Given the description of an element on the screen output the (x, y) to click on. 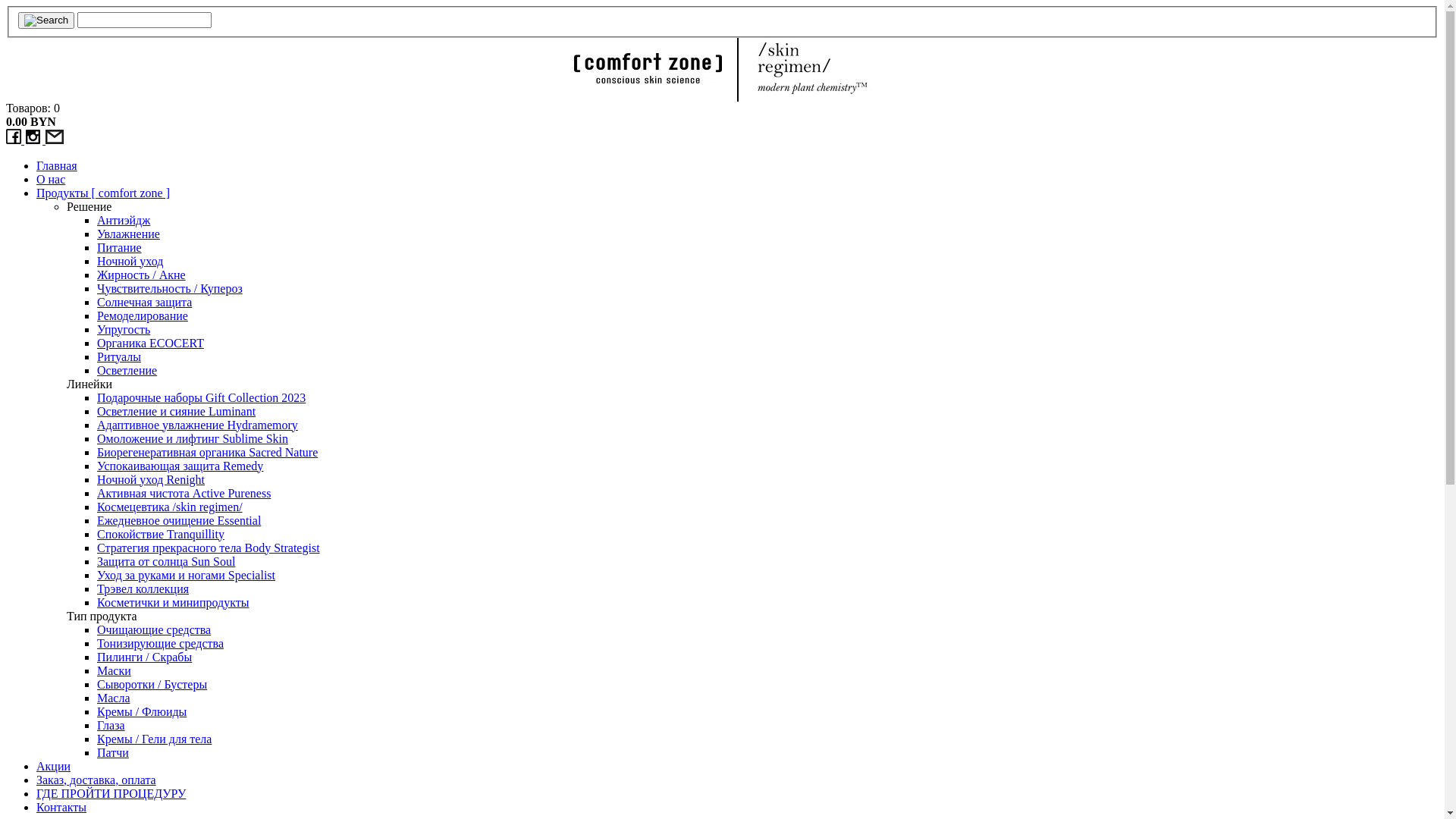
facebook Element type: hover (15, 139)
intagram Element type: hover (34, 139)
